Given the description of an element on the screen output the (x, y) to click on. 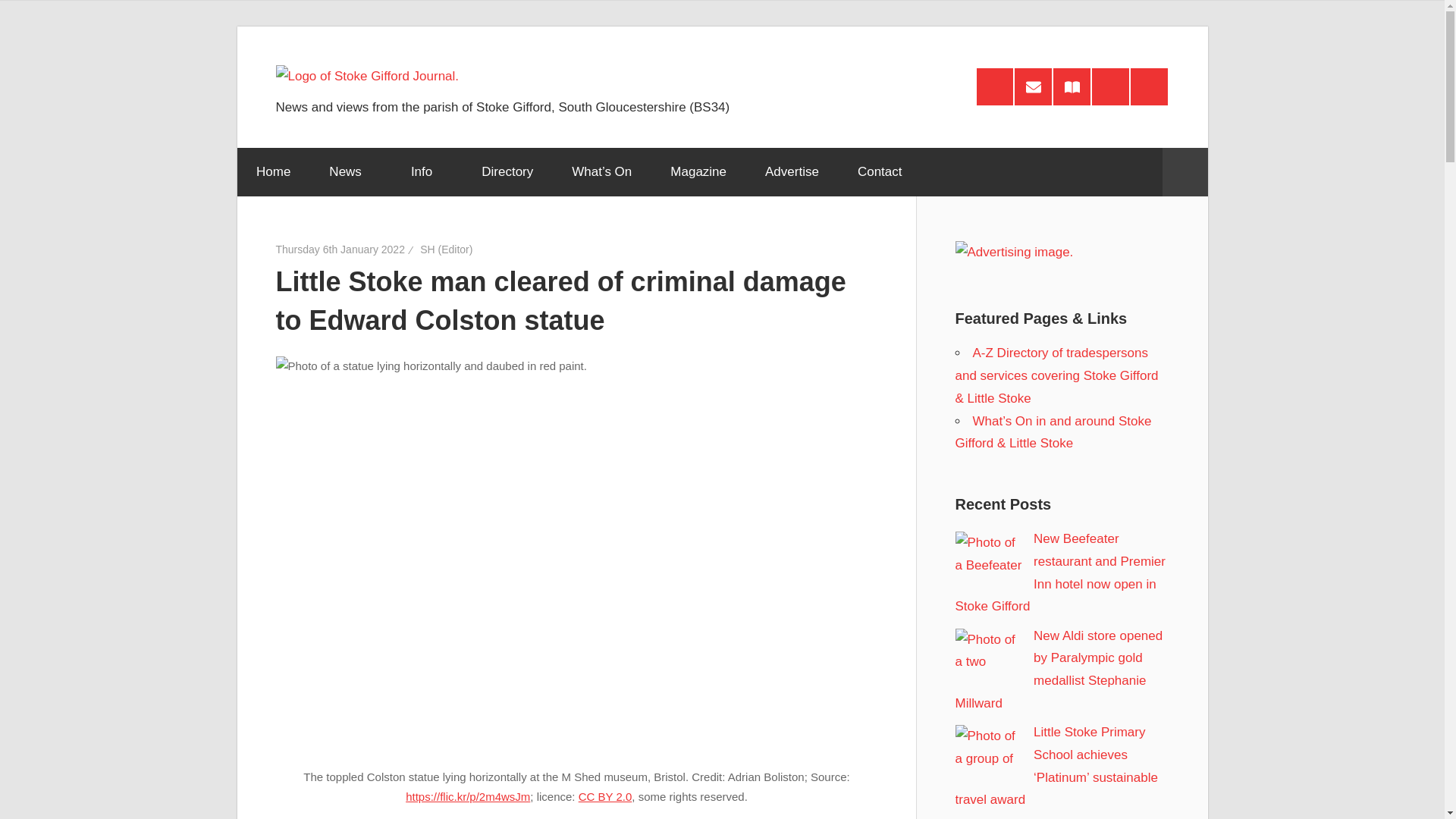
Feed (994, 86)
News (350, 172)
Stoke Gifford Journal on Facebook (1110, 86)
Twitter (1149, 86)
Read our Magazine (1071, 86)
Stoke Gifford Journal on Twitter (1149, 86)
Get the Stoke Gifford Journal delivered by email (1032, 86)
9:19pm (340, 249)
Read the Stoke Gifford Journal magazine online (1071, 86)
Home (271, 172)
Info (426, 172)
RSS news feed of the Stoke Gifford Journal (994, 86)
Subscribe by Email (1032, 86)
